Given the description of an element on the screen output the (x, y) to click on. 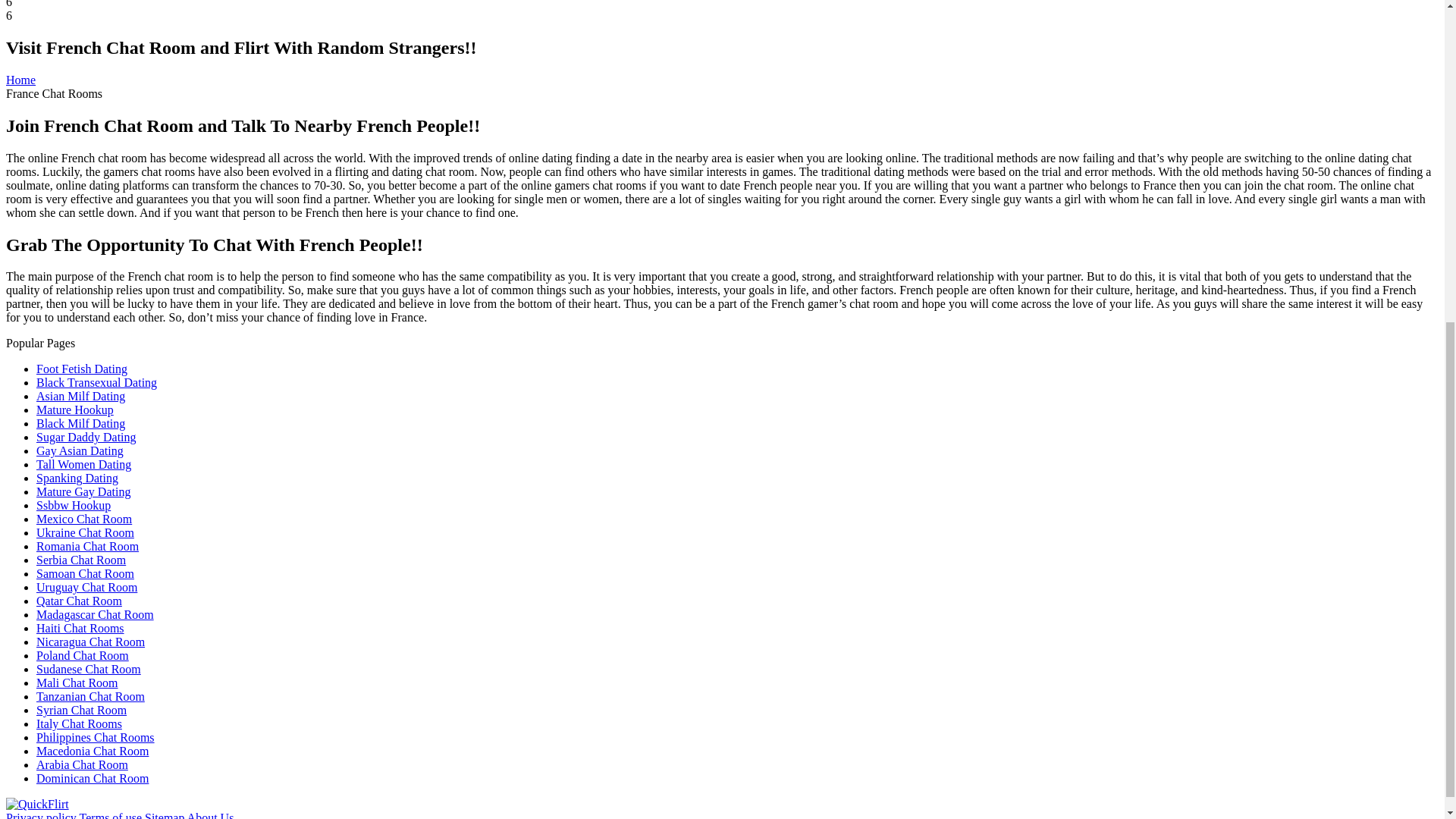
Black Transexual Dating (96, 382)
Asian Milf Dating (80, 395)
Mali Chat Room (76, 682)
Mature Hookup (74, 409)
Asian Milf Dating (80, 395)
Romania Chat Room (87, 545)
Samoan Chat Room (84, 573)
Serbia Chat Room (80, 559)
Nicaragua Chat Room (90, 641)
Uruguay Chat Room (86, 586)
Syrian Chat Room (81, 709)
Qatar Chat Room (79, 600)
Black Milf Dating (80, 422)
Qatar Chat Room (79, 600)
Uruguay Chat Room (86, 586)
